Given the description of an element on the screen output the (x, y) to click on. 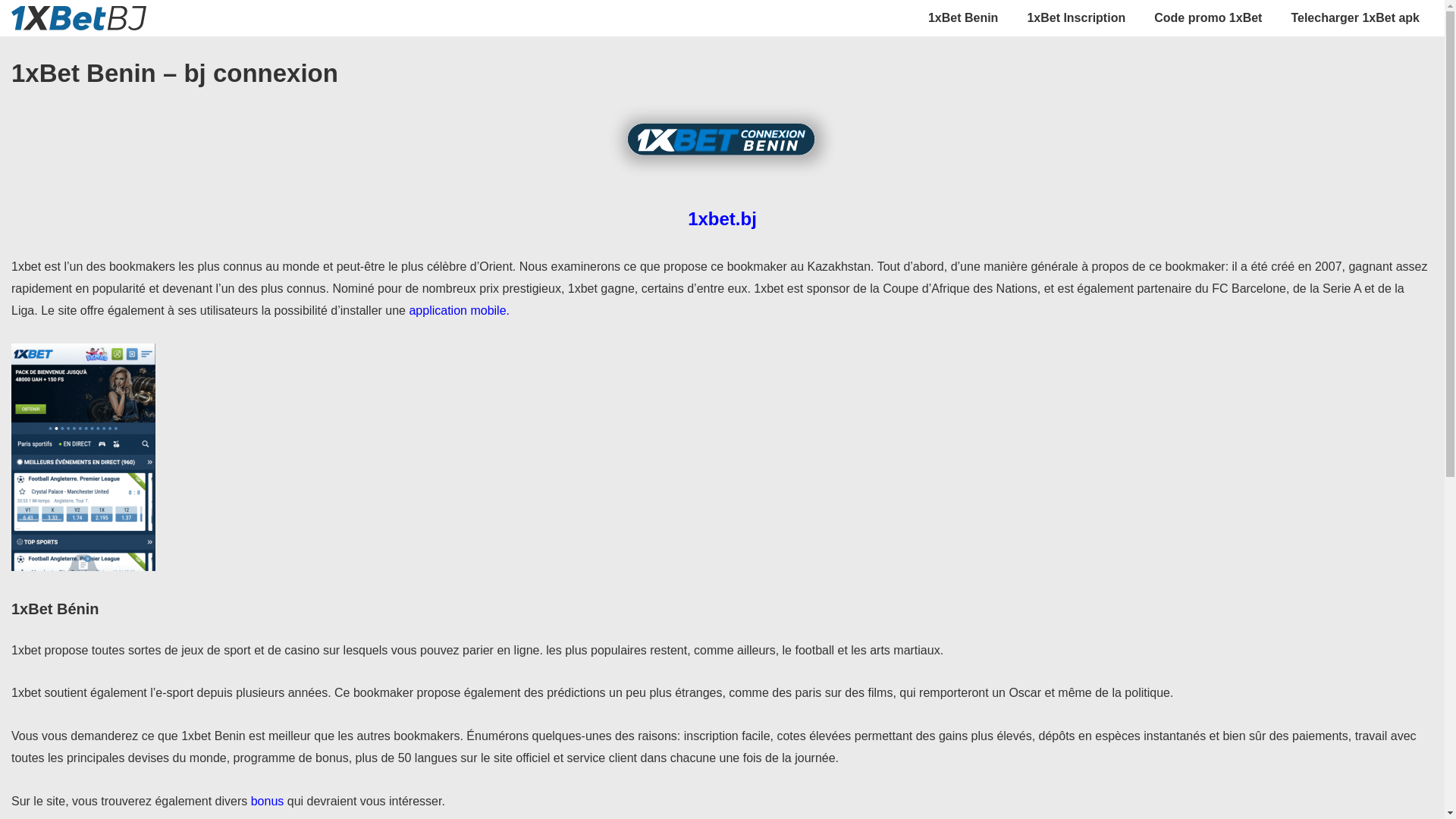
1xBet Inscription Element type: text (1076, 18)
bonus Element type: text (269, 800)
Code promo 1xBet Element type: text (1207, 18)
application mobile. Element type: text (458, 310)
Telecharger 1xBet apk Element type: text (1355, 18)
1xBet Benin Element type: text (962, 18)
1xbet.bj Element type: text (721, 218)
